Given the description of an element on the screen output the (x, y) to click on. 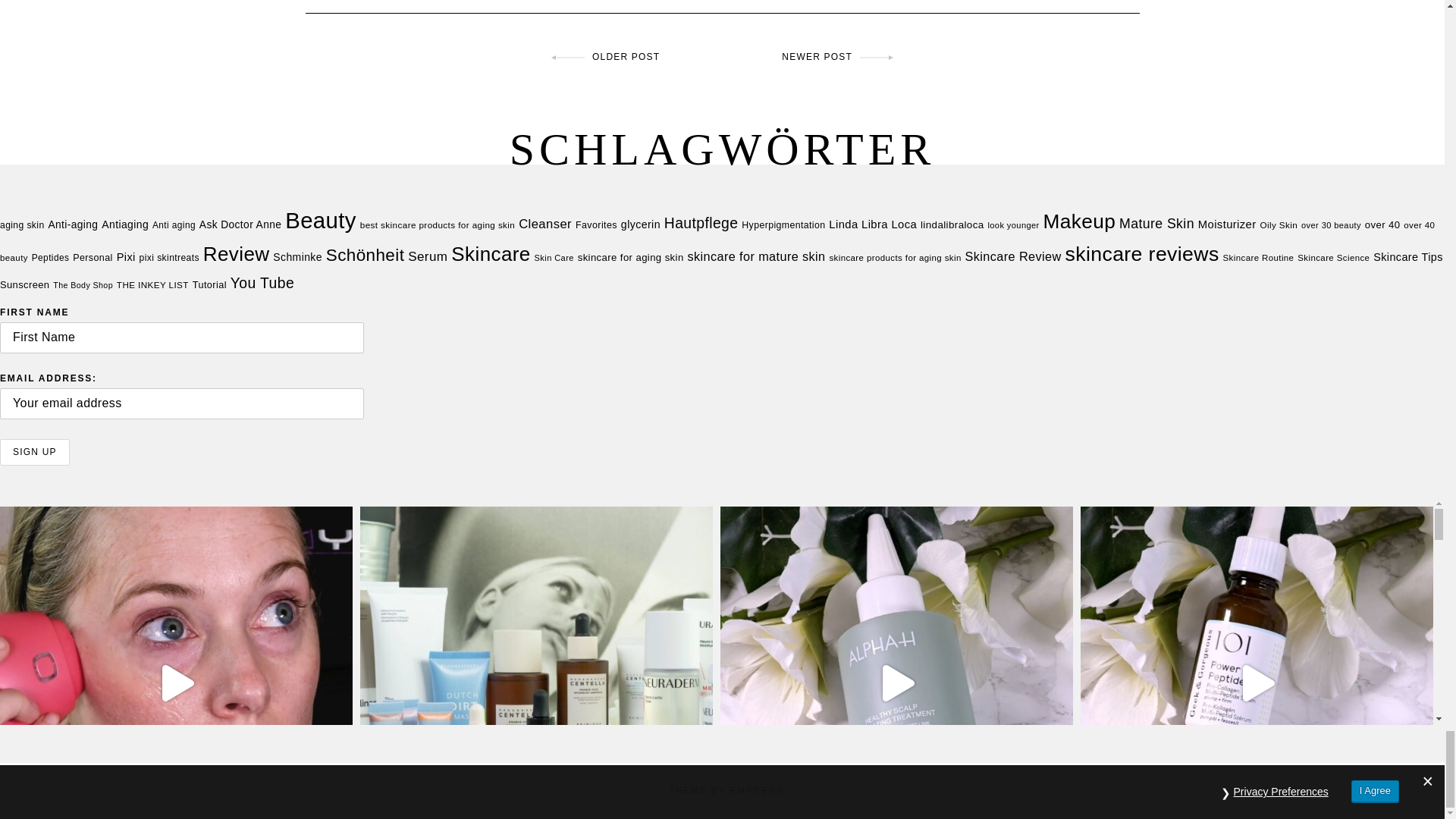
Sign up (34, 452)
